Given the description of an element on the screen output the (x, y) to click on. 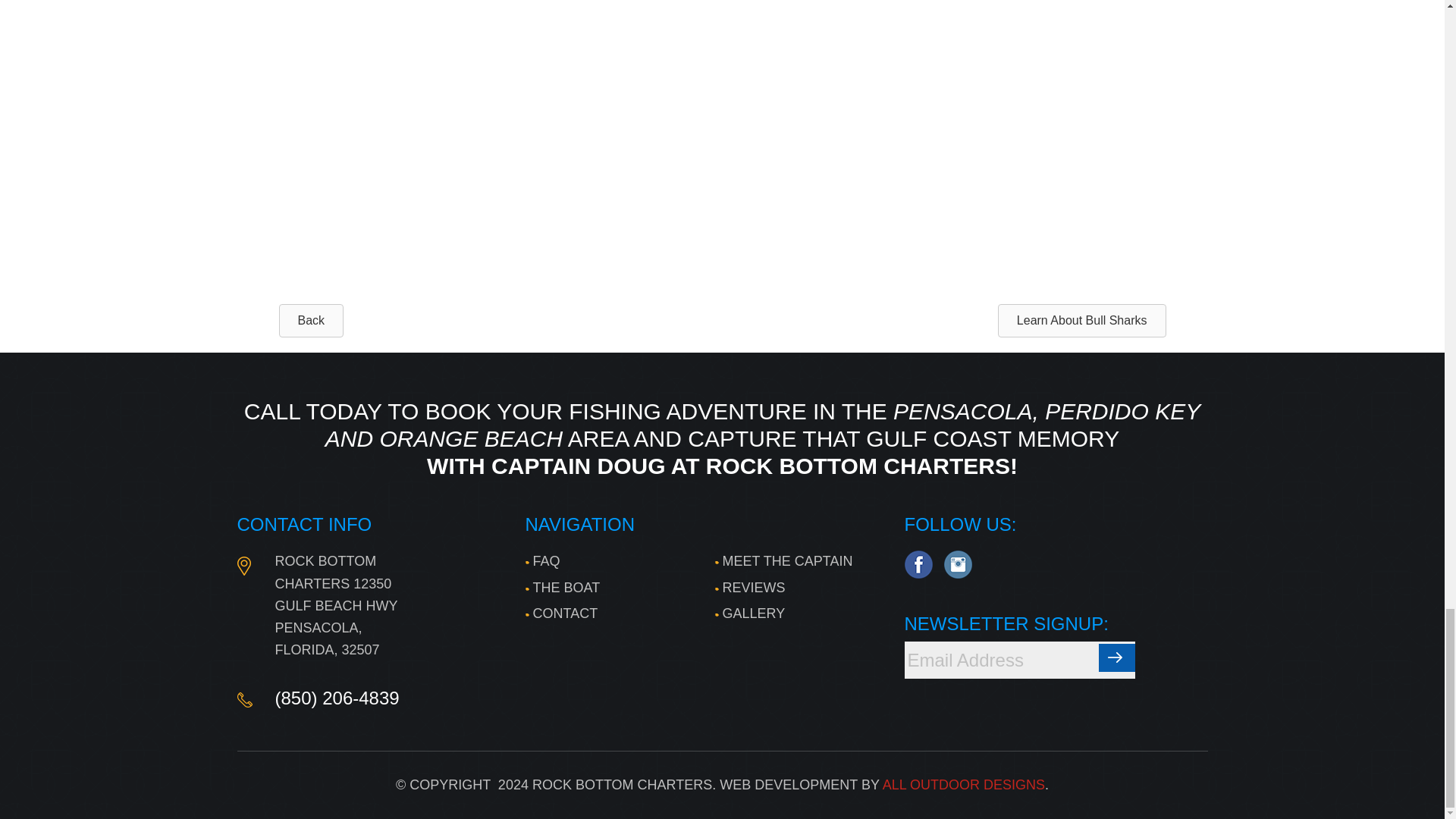
Submit (1115, 657)
ALL OUTDOOR DESIGNS (963, 784)
REVIEWS (749, 587)
Back (311, 320)
MEET THE CAPTAIN (782, 560)
FAQ (541, 560)
THE BOAT (561, 587)
Learn About Bull Sharks (1081, 320)
Submit (1115, 657)
CONTACT (560, 613)
